Given the description of an element on the screen output the (x, y) to click on. 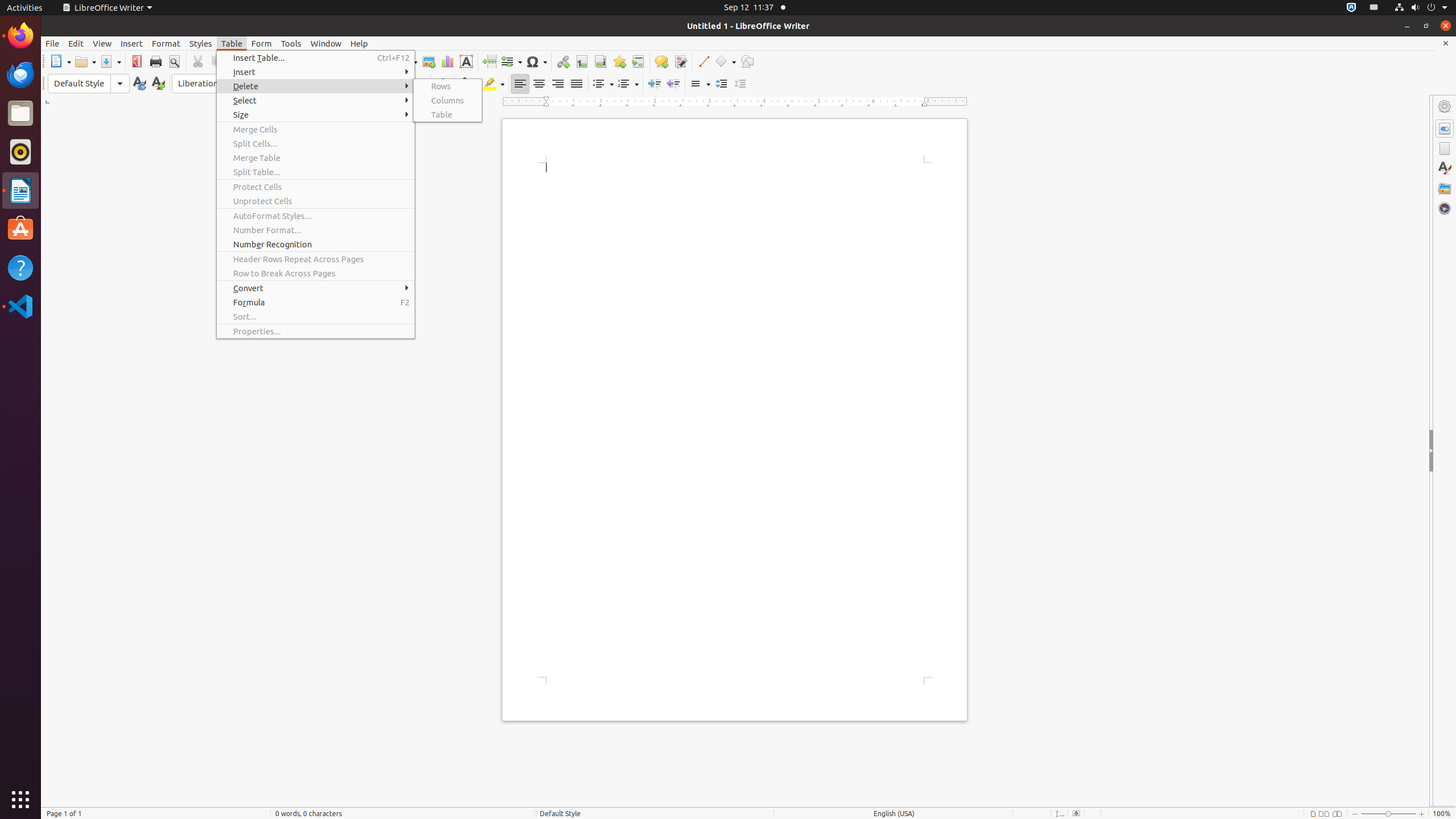
Cross-reference Element type: push-button (637, 61)
Header Rows Repeat Across Pages Element type: menu-item (315, 258)
Split Table... Element type: menu-item (315, 171)
Left Element type: toggle-button (519, 83)
Symbol Element type: push-button (535, 61)
